Given the description of an element on the screen output the (x, y) to click on. 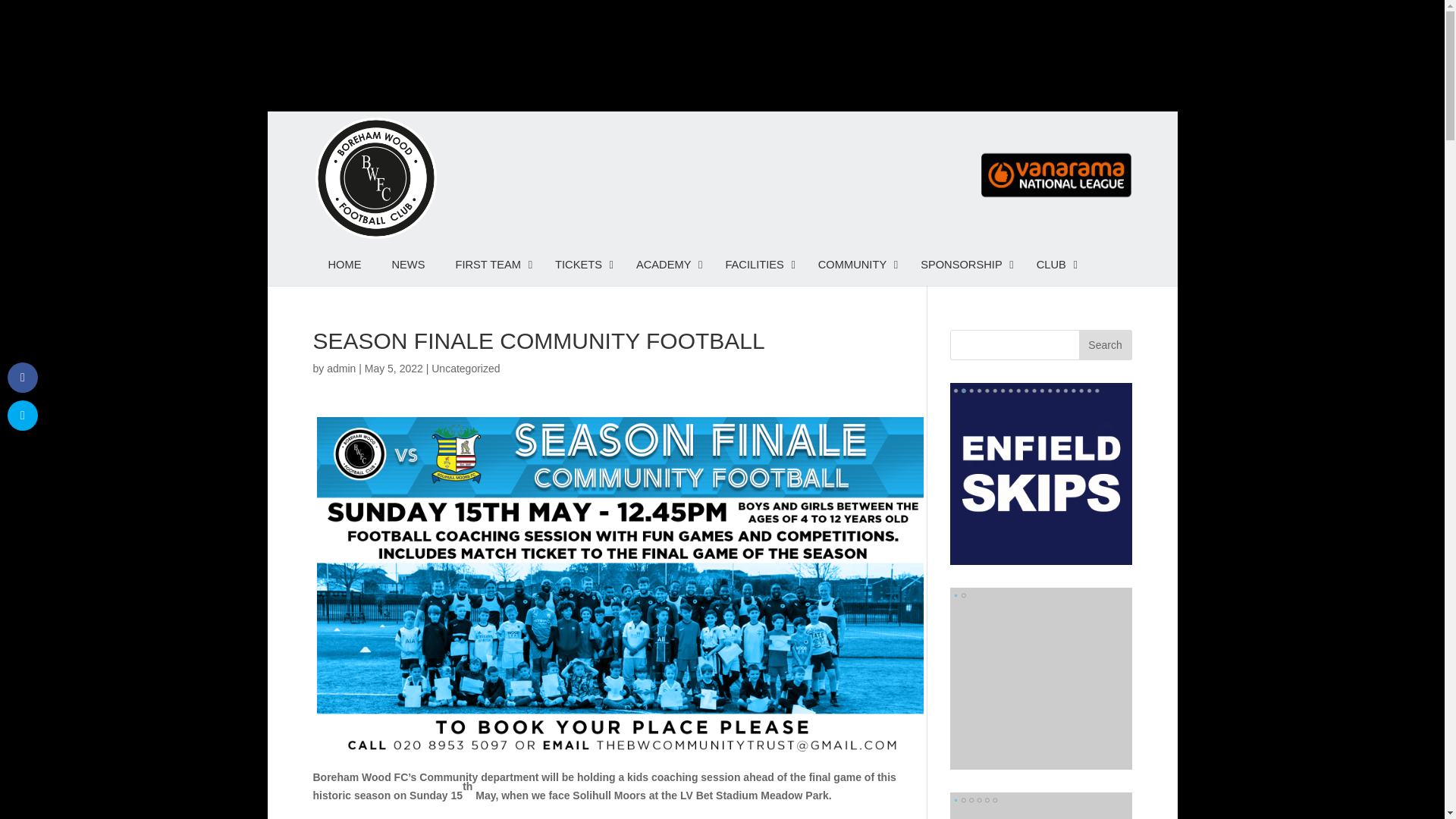
COMMUNITY (854, 264)
FACILITIES (756, 264)
NEWS (407, 264)
HOME (344, 264)
ACADEMY (665, 264)
Posts by admin (340, 368)
Uncategorized (464, 368)
FIRST TEAM (489, 264)
TICKETS (580, 264)
